Given the description of an element on the screen output the (x, y) to click on. 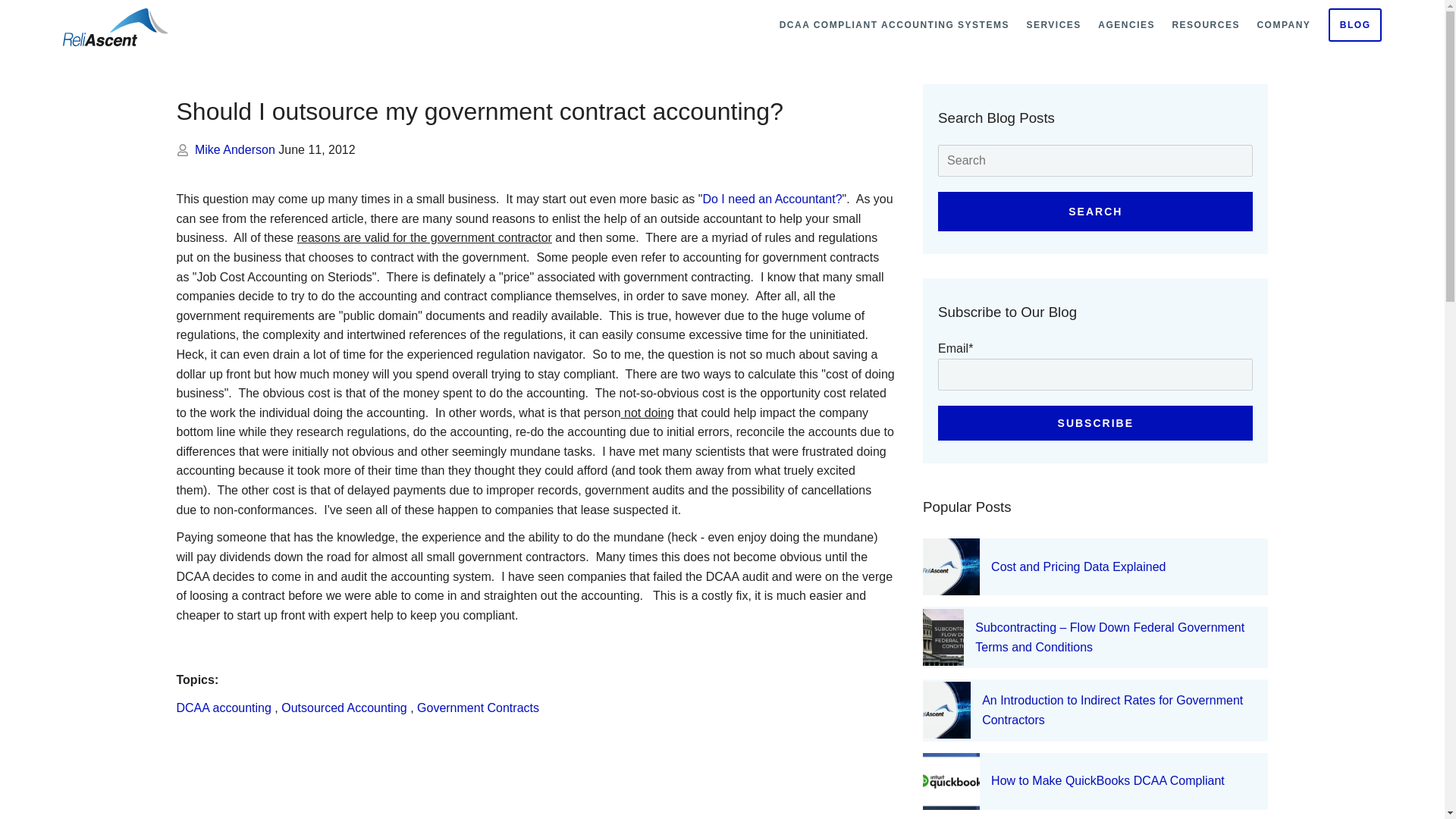
SERVICES (1053, 24)
Subscribe (1094, 422)
COMPANY (1283, 24)
ReliAscent  (114, 26)
RESOURCES (1205, 24)
DCAA COMPLIANT ACCOUNTING SYSTEMS (894, 24)
AGENCIES (1125, 24)
Do I need an Accountant? (771, 198)
